Given the description of an element on the screen output the (x, y) to click on. 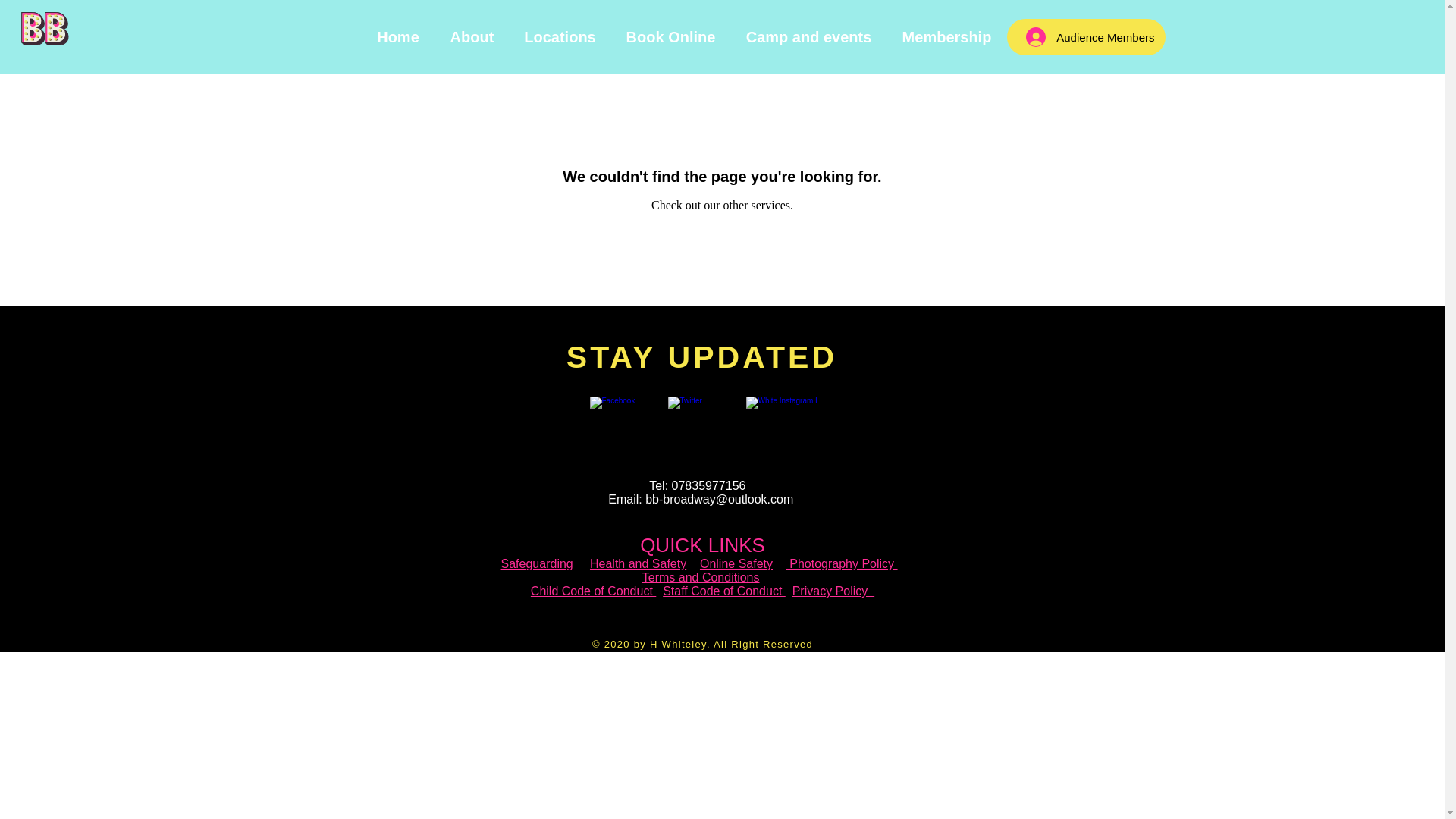
 Photography Policy  (842, 563)
Staff Code of Conduct  (724, 590)
Home (397, 36)
Safeguarding (536, 563)
Online Safety (736, 563)
Audience Members (1089, 36)
Terms and Conditions (701, 576)
About (472, 36)
Membership (946, 36)
Health and Safety (637, 563)
Child Code of Conduct  (593, 590)
Locations (560, 36)
